Given the description of an element on the screen output the (x, y) to click on. 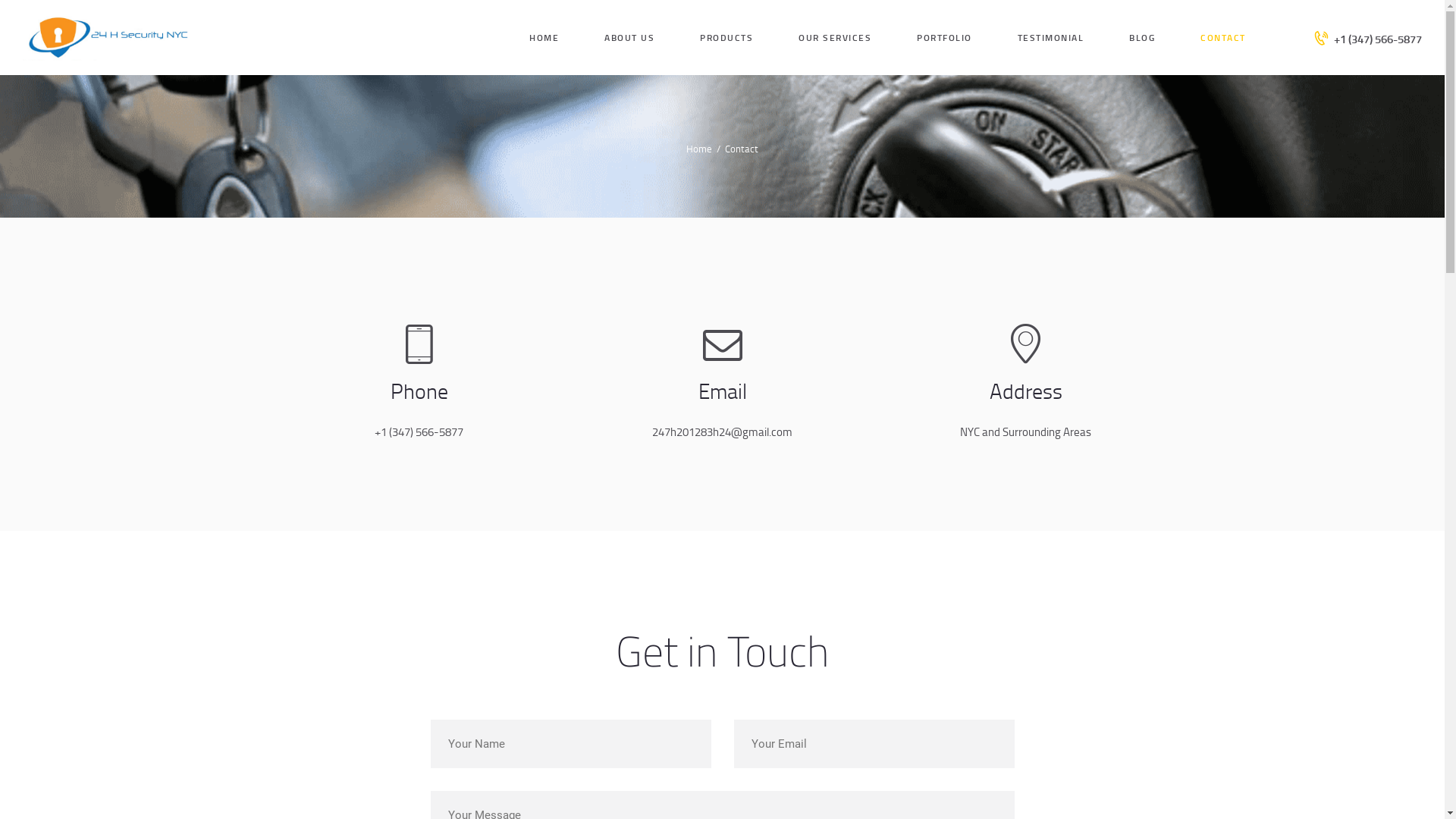
PRODUCTS Element type: text (726, 37)
CONTACT Element type: text (1222, 37)
247h201283h24@gmail.com Element type: text (722, 431)
Home Element type: text (699, 148)
+1 (347) 566-5877 Element type: text (418, 431)
PORTFOLIO Element type: text (944, 37)
BLOG Element type: text (1141, 37)
HOME Element type: text (543, 37)
OUR SERVICES Element type: text (834, 37)
TESTIMONIAL Element type: text (1050, 37)
ABOUT US Element type: text (629, 37)
+1 (347) 566-5877 Element type: text (1367, 37)
